Given the description of an element on the screen output the (x, y) to click on. 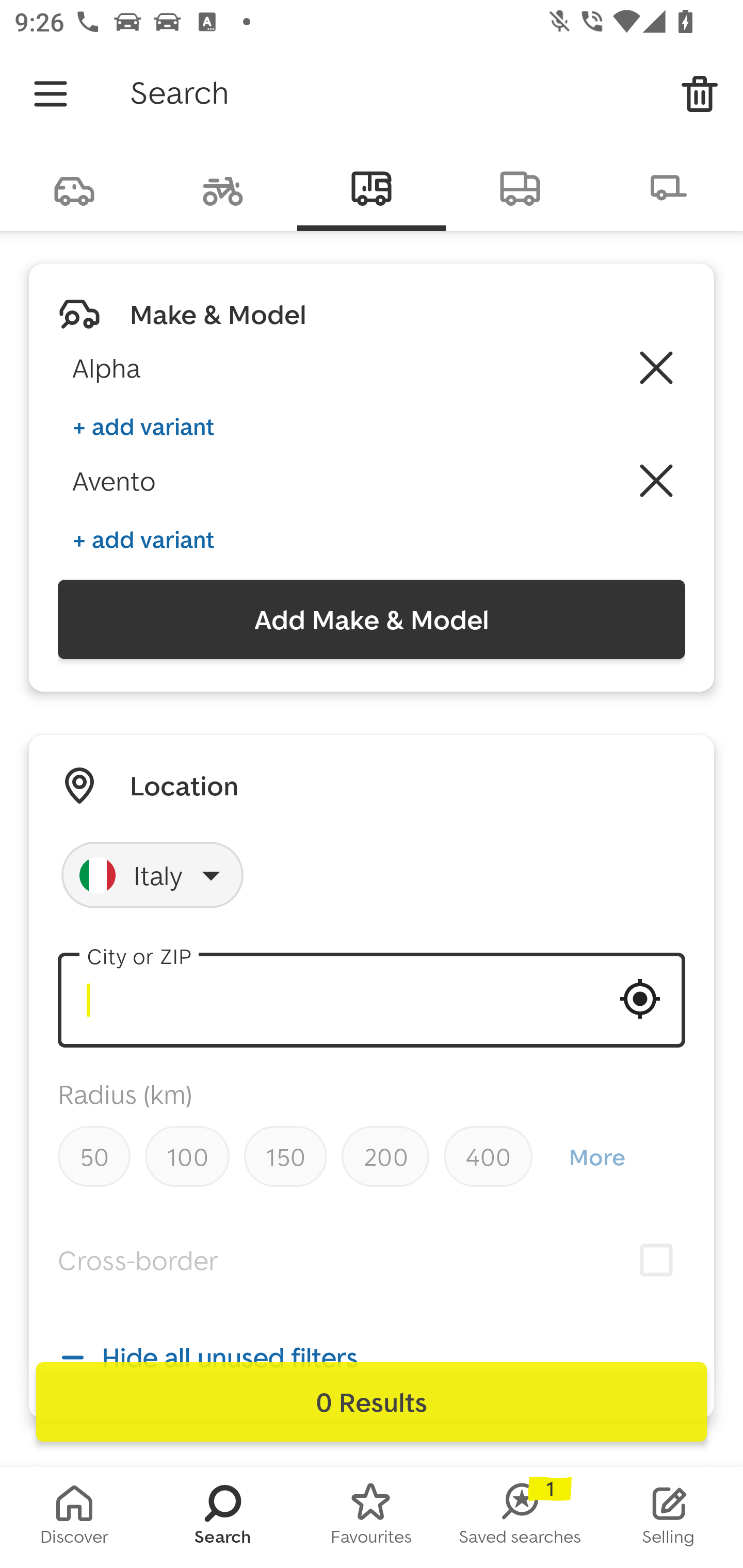
Navigate up (50, 93)
New search (699, 93)
CAR_SEARCH (74, 187)
BIKE_SEARCH (222, 187)
TRUCKS_SEARCH (519, 187)
TRAILERS_SEARCH (668, 187)
Make & Model (218, 314)
+ add variant (143, 426)
+ add variant (143, 539)
Add Make & Model (371, 619)
Location (184, 785)
Italy (152, 874)
City or ZIP (371, 1000)
Radius (km) (124, 1094)
50 (93, 1155)
100 (186, 1155)
150 (284, 1155)
200 (385, 1155)
400 (487, 1155)
More (596, 1156)
0 Results (371, 1401)
HOMESCREEN Discover (74, 1517)
SEARCH Search (222, 1517)
FAVORITES Favourites (371, 1517)
SAVED_SEARCHES Saved searches 1 (519, 1517)
STOCK_LIST Selling (668, 1517)
